Given the description of an element on the screen output the (x, y) to click on. 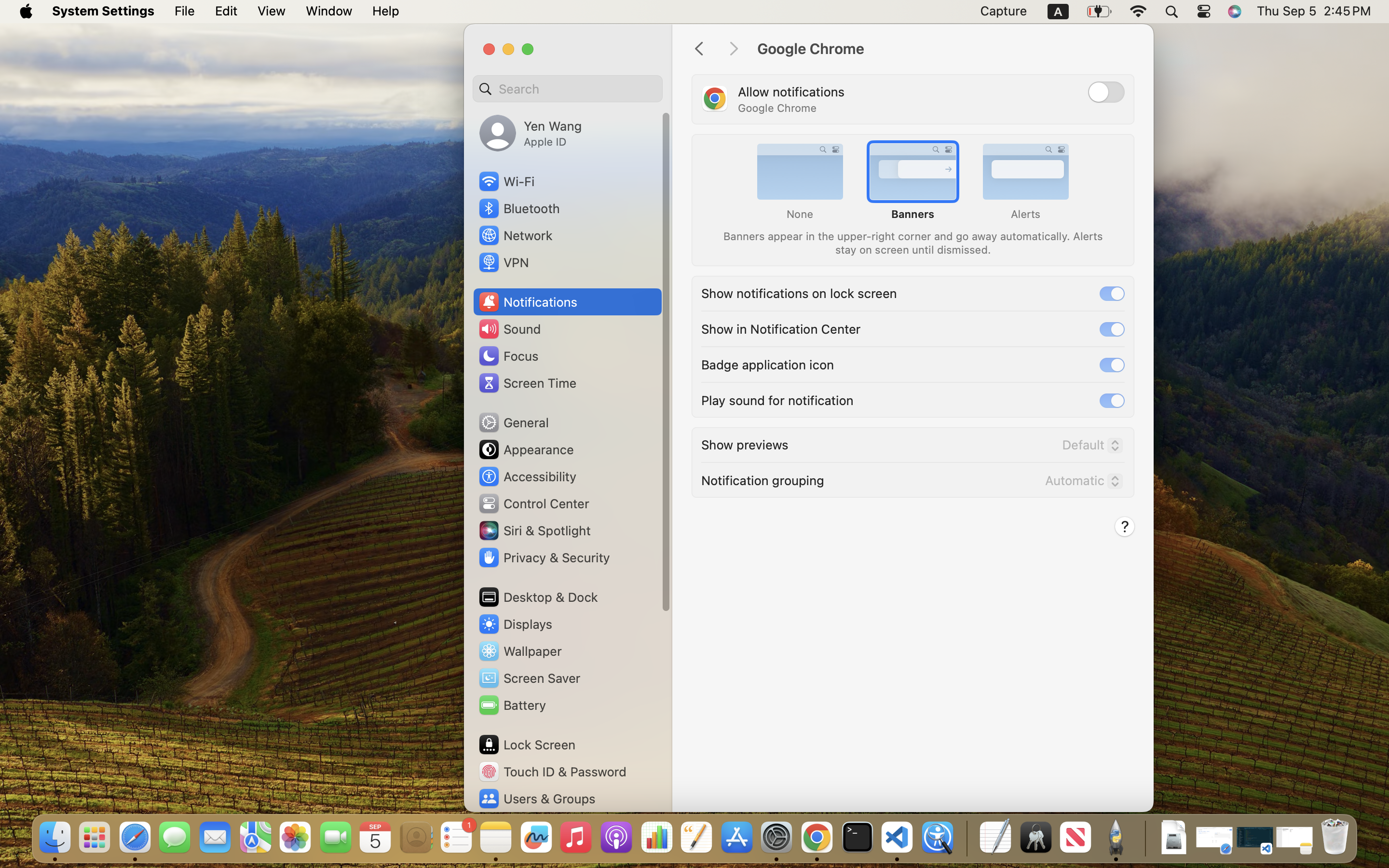
Default Element type: AXPopUpButton (1088, 446)
VPN Element type: AXStaticText (502, 261)
Touch ID & Password Element type: AXStaticText (551, 771)
Google Chrome Element type: AXStaticText (945, 49)
Focus Element type: AXStaticText (507, 355)
